Given the description of an element on the screen output the (x, y) to click on. 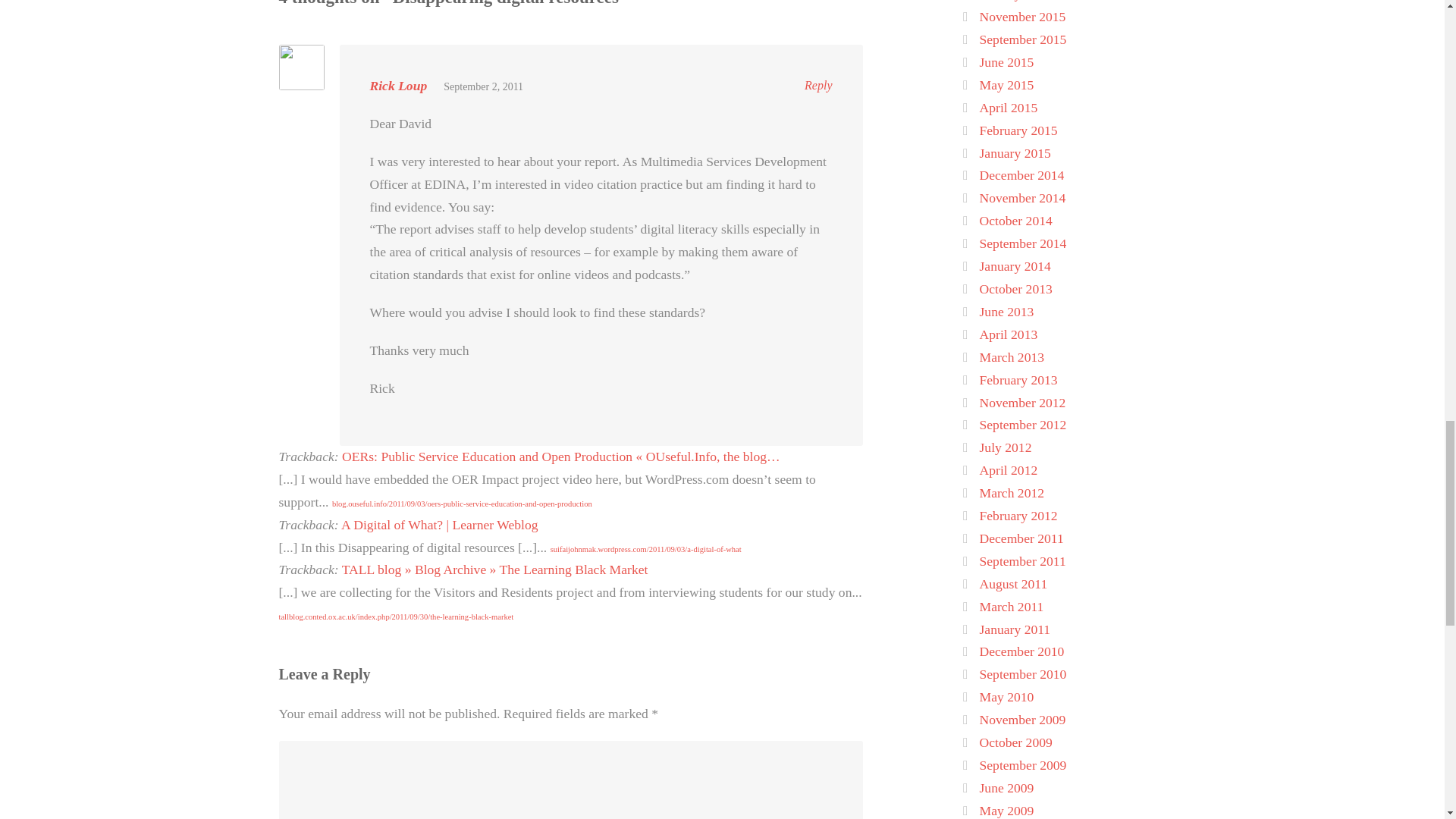
Rick Loup (398, 85)
Reply (818, 85)
